Given the description of an element on the screen output the (x, y) to click on. 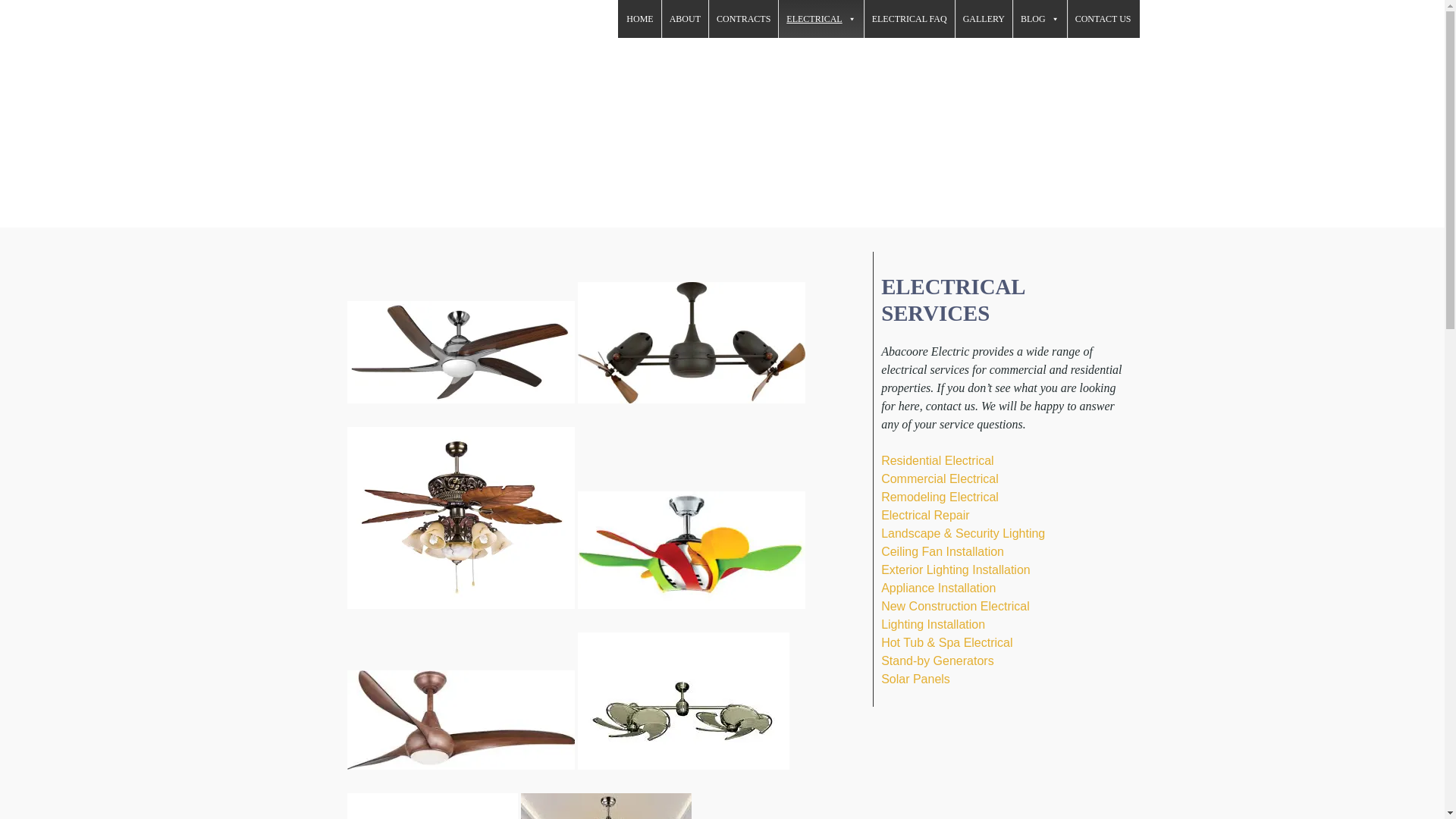
Electrical Repair (924, 514)
BLOG (1040, 18)
New Construction Electrical (954, 605)
ABOUT (684, 18)
Solar Panels (915, 678)
CONTRACTS (743, 18)
Appliance Installation (937, 587)
Remodeling Electrical (939, 496)
ELECTRICAL FAQ (909, 18)
Ceiling Fan Installation (942, 551)
CONTACT US (1102, 18)
ABACOORE ELECTRIC (365, 37)
Commercial Electrical (939, 478)
ELECTRICAL (820, 18)
HOME (639, 18)
